Given the description of an element on the screen output the (x, y) to click on. 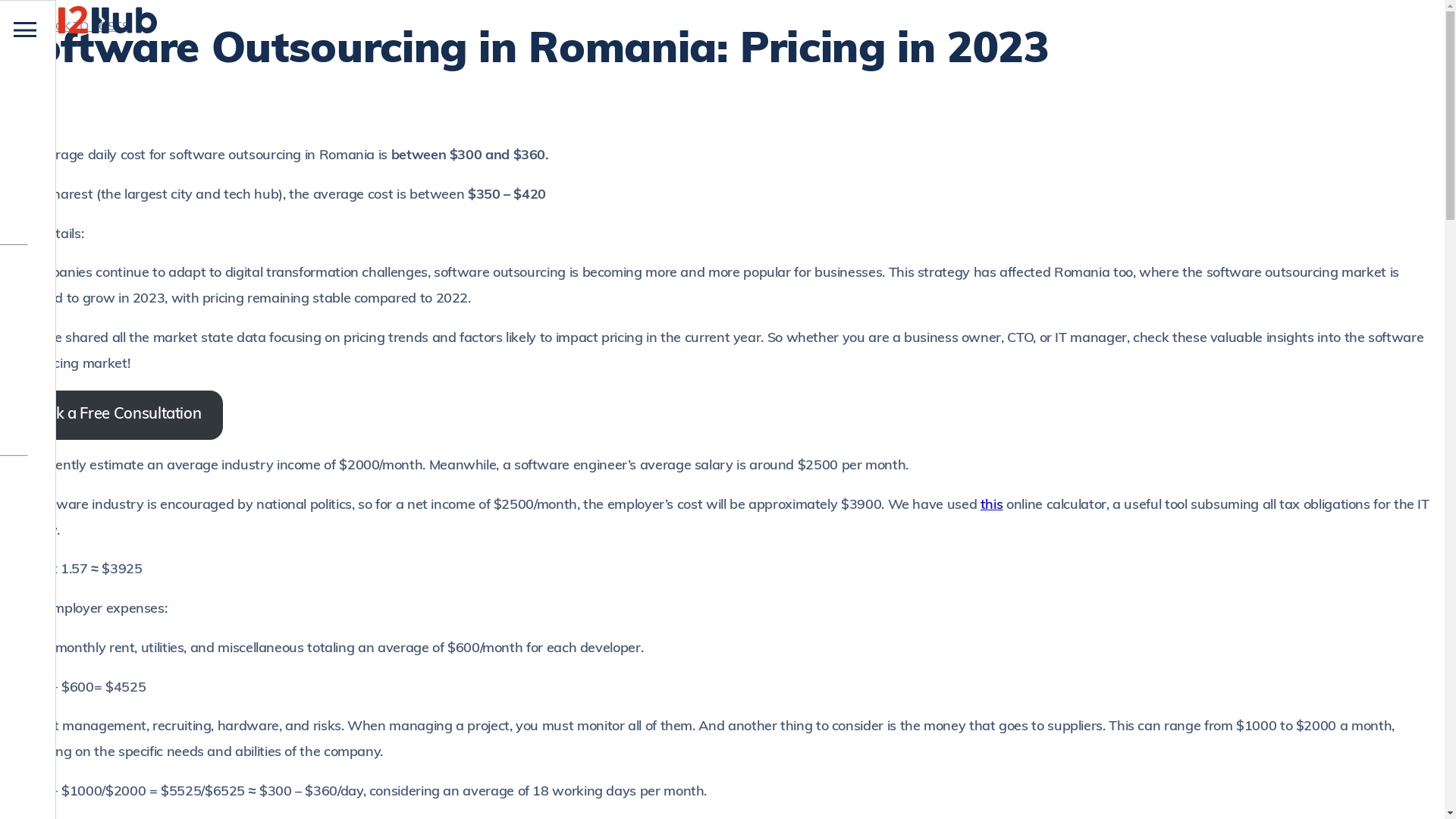
Book a Free Consultation Element type: text (114, 414)
this Element type: text (991, 505)
BACK TO POSTS Element type: text (78, 27)
